Given the description of an element on the screen output the (x, y) to click on. 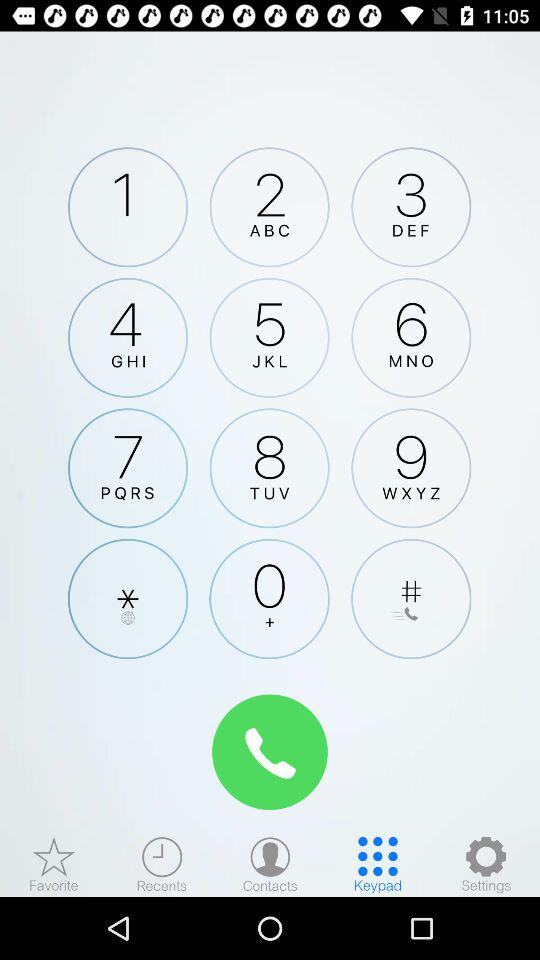
press 9 wxzy (411, 468)
